Given the description of an element on the screen output the (x, y) to click on. 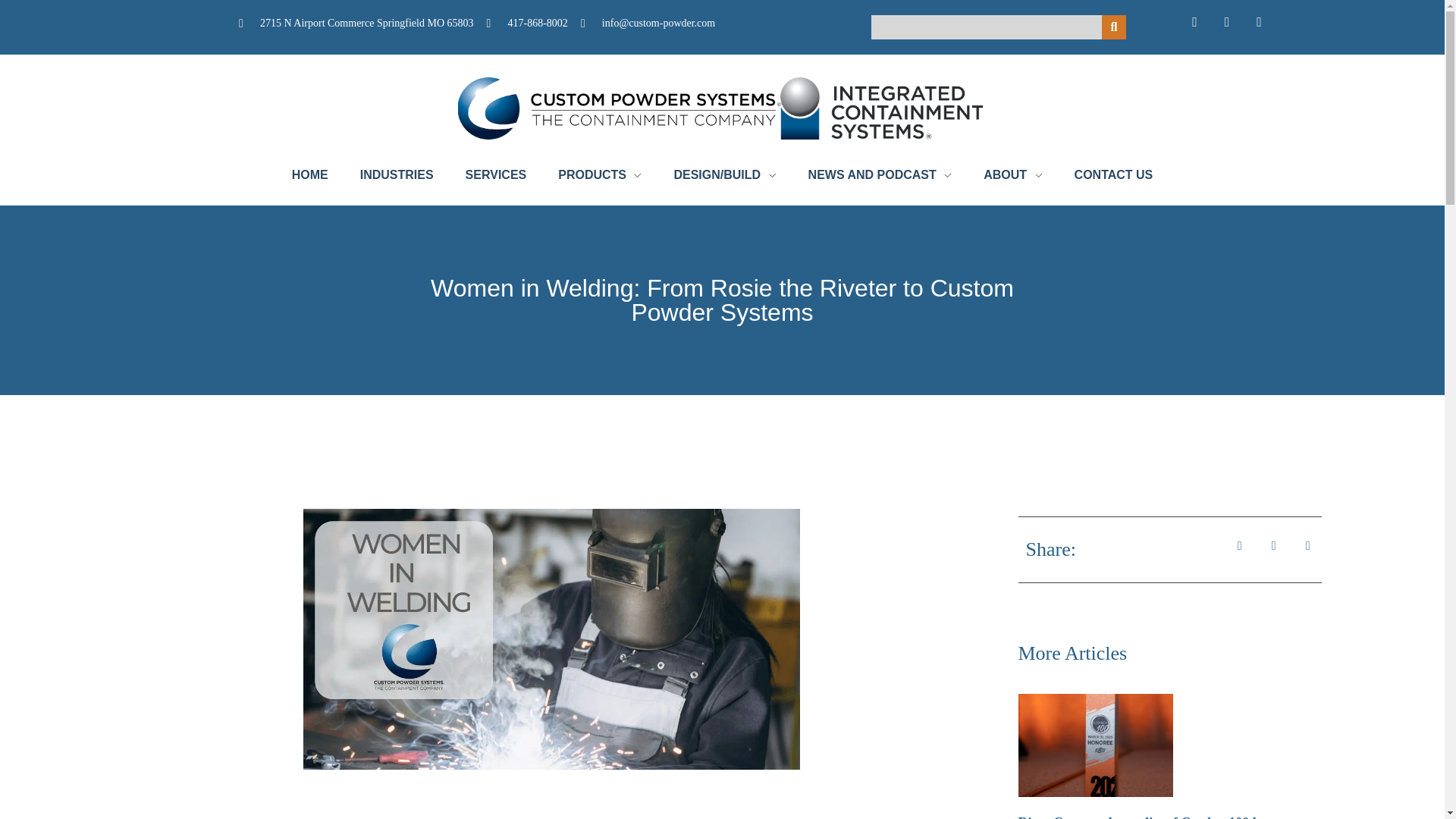
SERVICES (496, 175)
NEWS AND PODCAST (880, 175)
CONTACT US (1105, 175)
ABOUT (1013, 175)
Riata Center releases list of Cowboy100 honorees (1160, 816)
HOME (317, 175)
INDUSTRIES (396, 175)
PRODUCTS (599, 175)
